Given the description of an element on the screen output the (x, y) to click on. 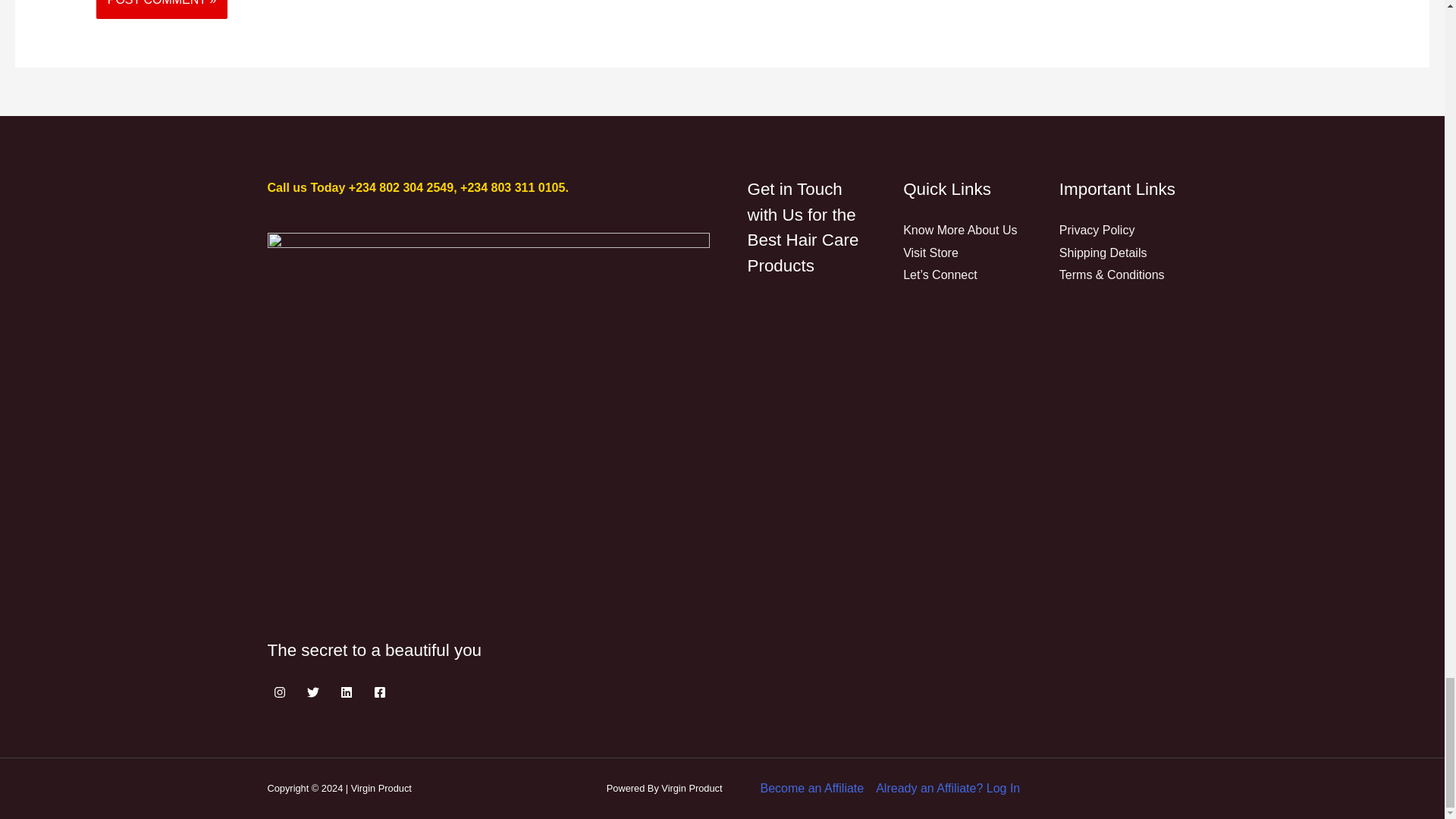
Visit Store (930, 252)
Know More About Us (959, 229)
